Given the description of an element on the screen output the (x, y) to click on. 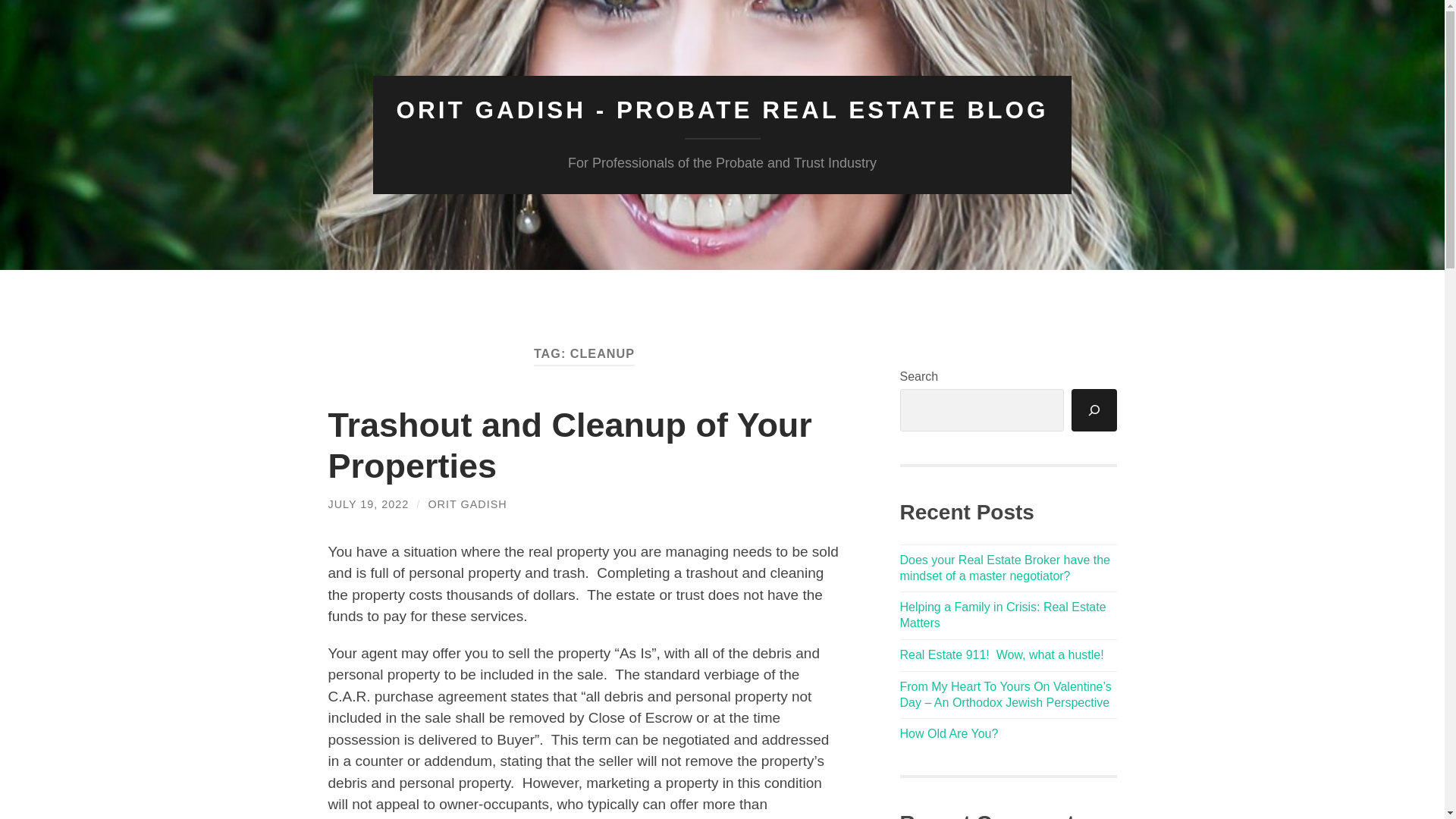
How Old Are You? (948, 733)
ORIT GADISH - PROBATE REAL ESTATE BLOG (722, 109)
Trashout and Cleanup of Your Properties (568, 445)
Real Estate 911!  Wow, what a hustle! (1001, 654)
Helping a Family in Crisis: Real Estate Matters (1002, 614)
Posts by Orit Gadish (467, 503)
JULY 19, 2022 (368, 503)
ORIT GADISH (467, 503)
